Given the description of an element on the screen output the (x, y) to click on. 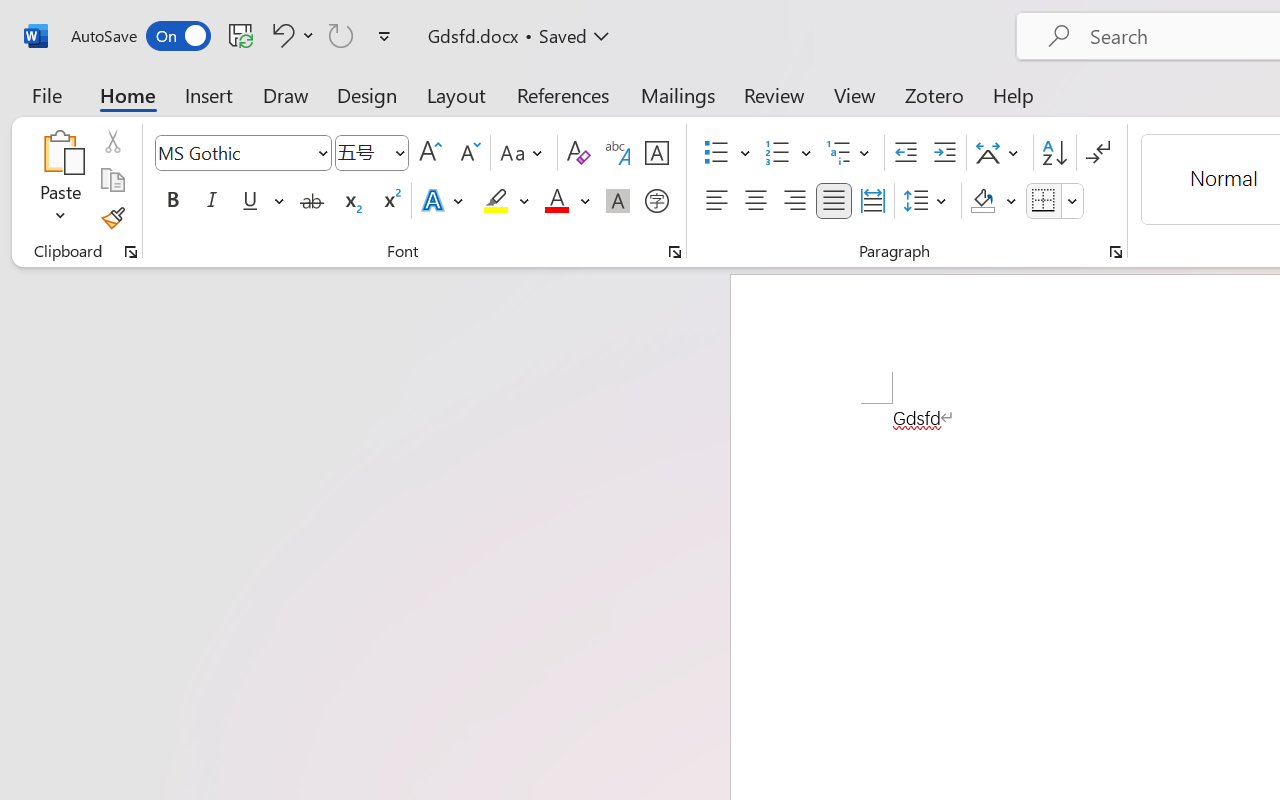
Undo Font Formatting (280, 35)
